Given the description of an element on the screen output the (x, y) to click on. 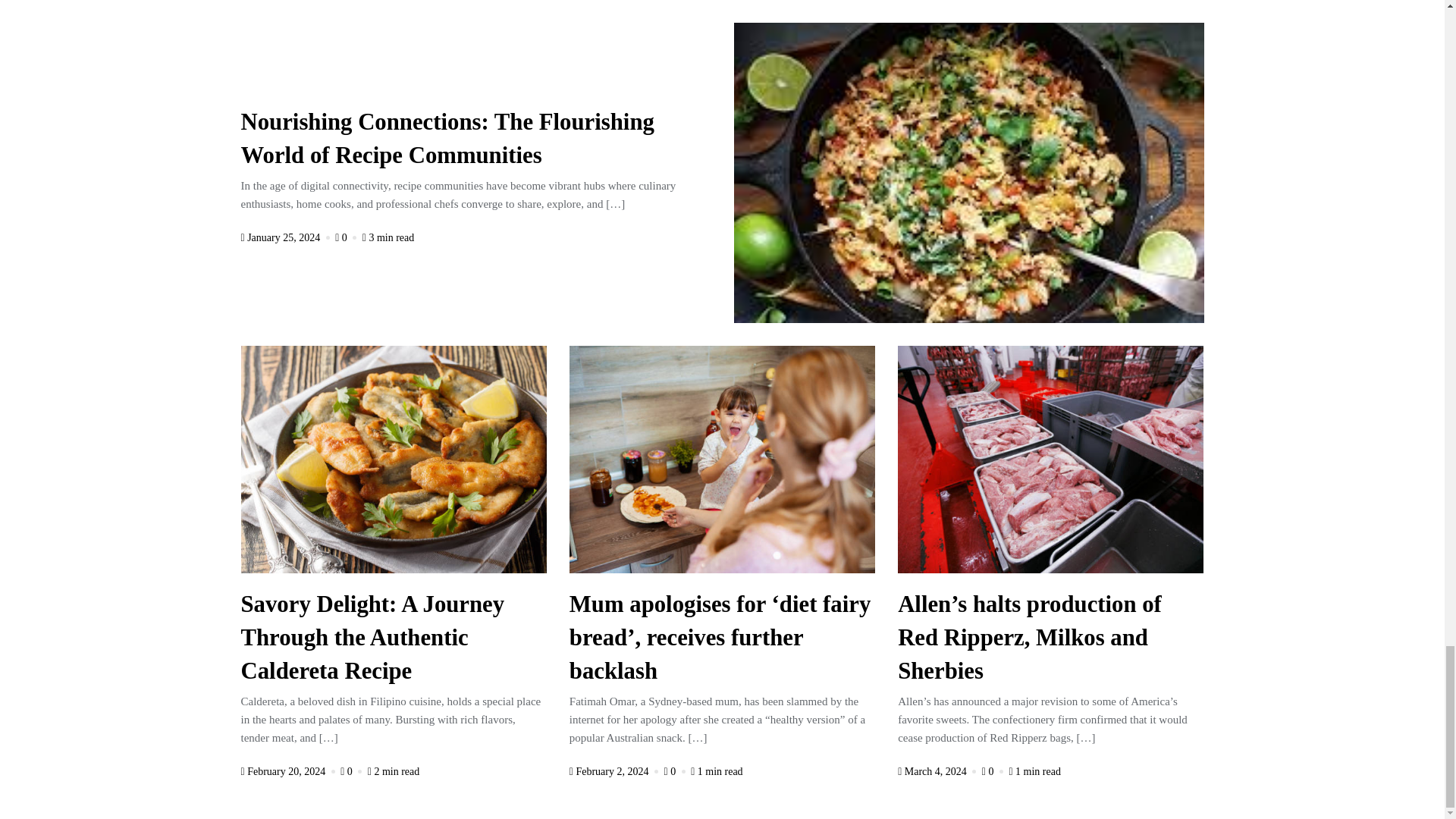
1 min read (1035, 771)
February 20, 2024 (289, 771)
0 (352, 771)
March 4, 2024 (938, 771)
2 min read (394, 771)
3 min read (388, 237)
0 (993, 771)
January 25, 2024 (287, 237)
0 (675, 771)
0 (346, 237)
1 min read (716, 771)
February 2, 2024 (615, 771)
